Given the description of an element on the screen output the (x, y) to click on. 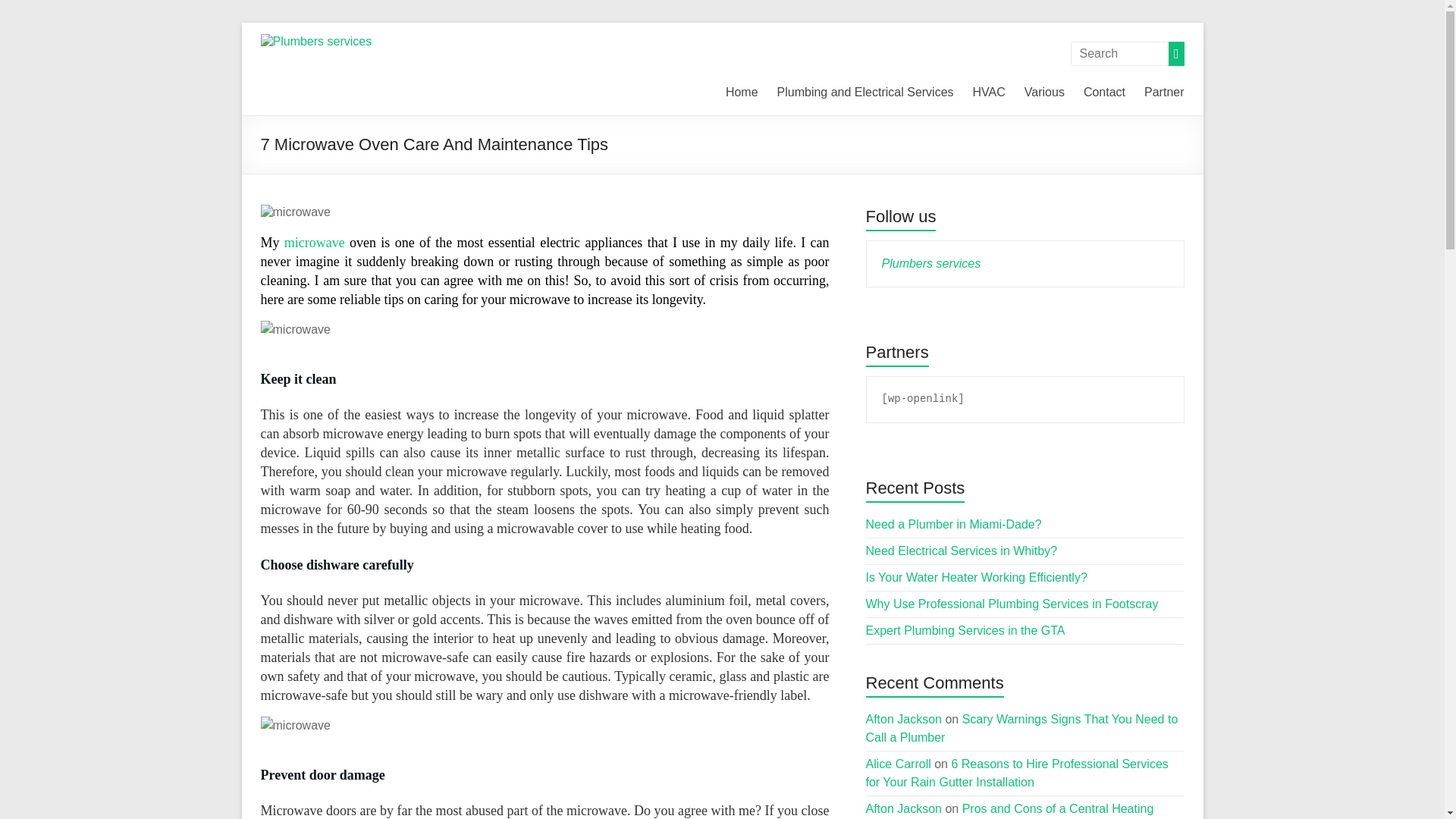
7 Microwave Oven Care And Maintenance Tips (295, 212)
Plumbers services (316, 68)
Contact (1104, 92)
Various (1044, 92)
HVAC (989, 92)
Plumbers services (316, 68)
Plumbing and Electrical Services (865, 92)
Home (741, 92)
Partner (1163, 92)
microwave (314, 242)
